Given the description of an element on the screen output the (x, y) to click on. 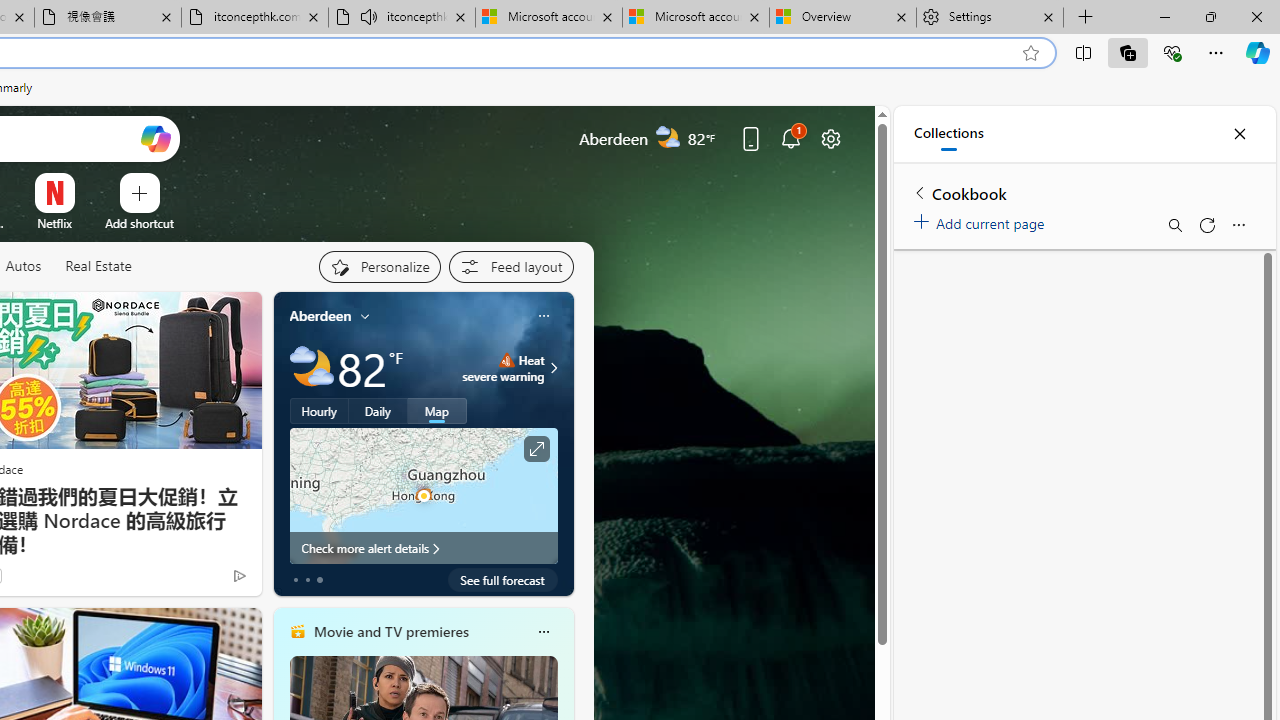
Larger map  (423, 495)
